Given the description of an element on the screen output the (x, y) to click on. 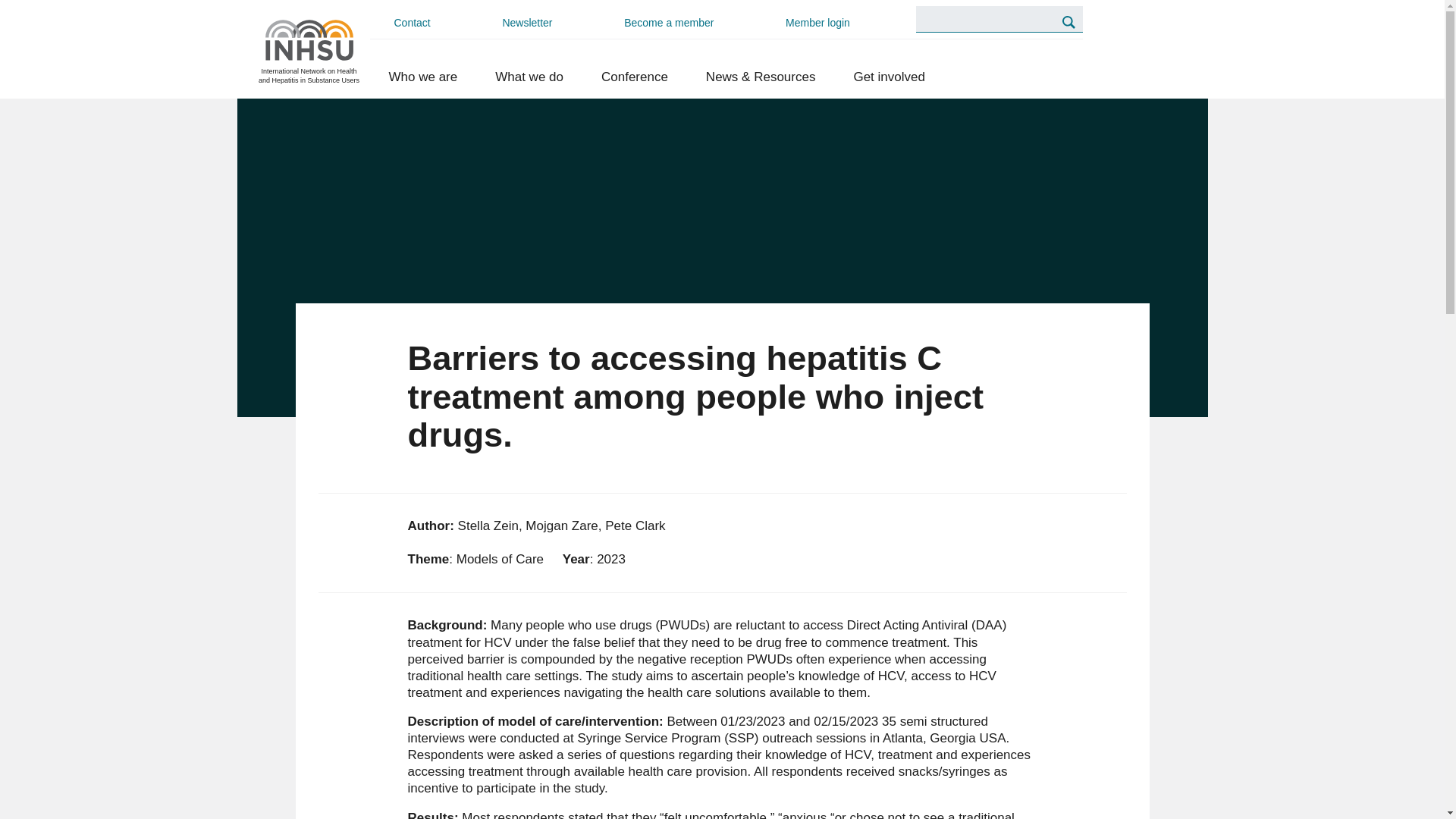
Newsletter (526, 22)
Newsletter (526, 22)
Member login (817, 22)
Member login (817, 22)
Contact (412, 22)
Become a member (668, 22)
Become a member (668, 22)
Search (1067, 21)
Contact (412, 22)
Who we are (423, 77)
